Given the description of an element on the screen output the (x, y) to click on. 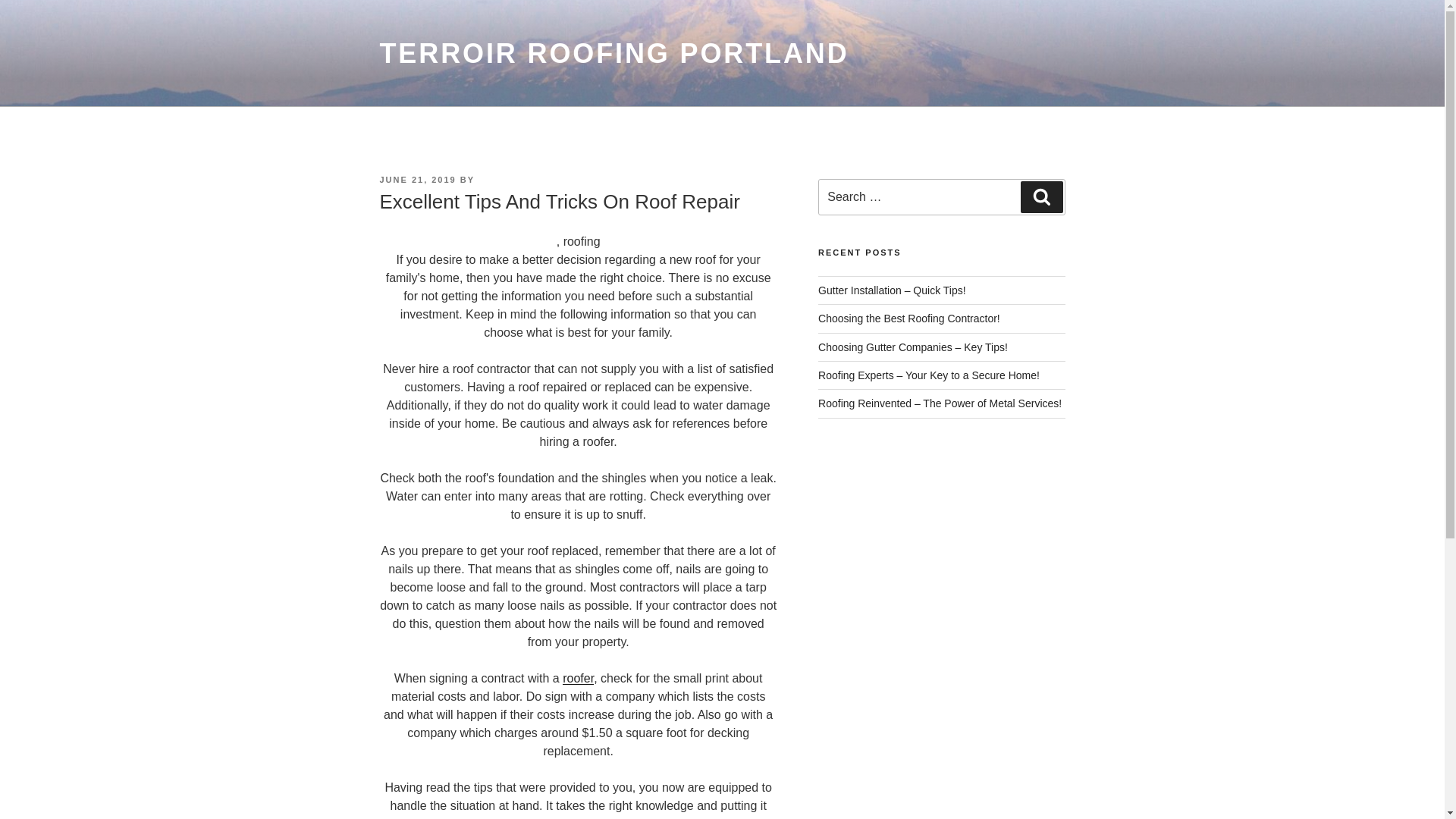
Choosing the Best Roofing Contractor! (909, 318)
Search (1041, 196)
roofer (578, 677)
JUNE 21, 2019 (416, 179)
TERROIR ROOFING PORTLAND (613, 52)
